Given the description of an element on the screen output the (x, y) to click on. 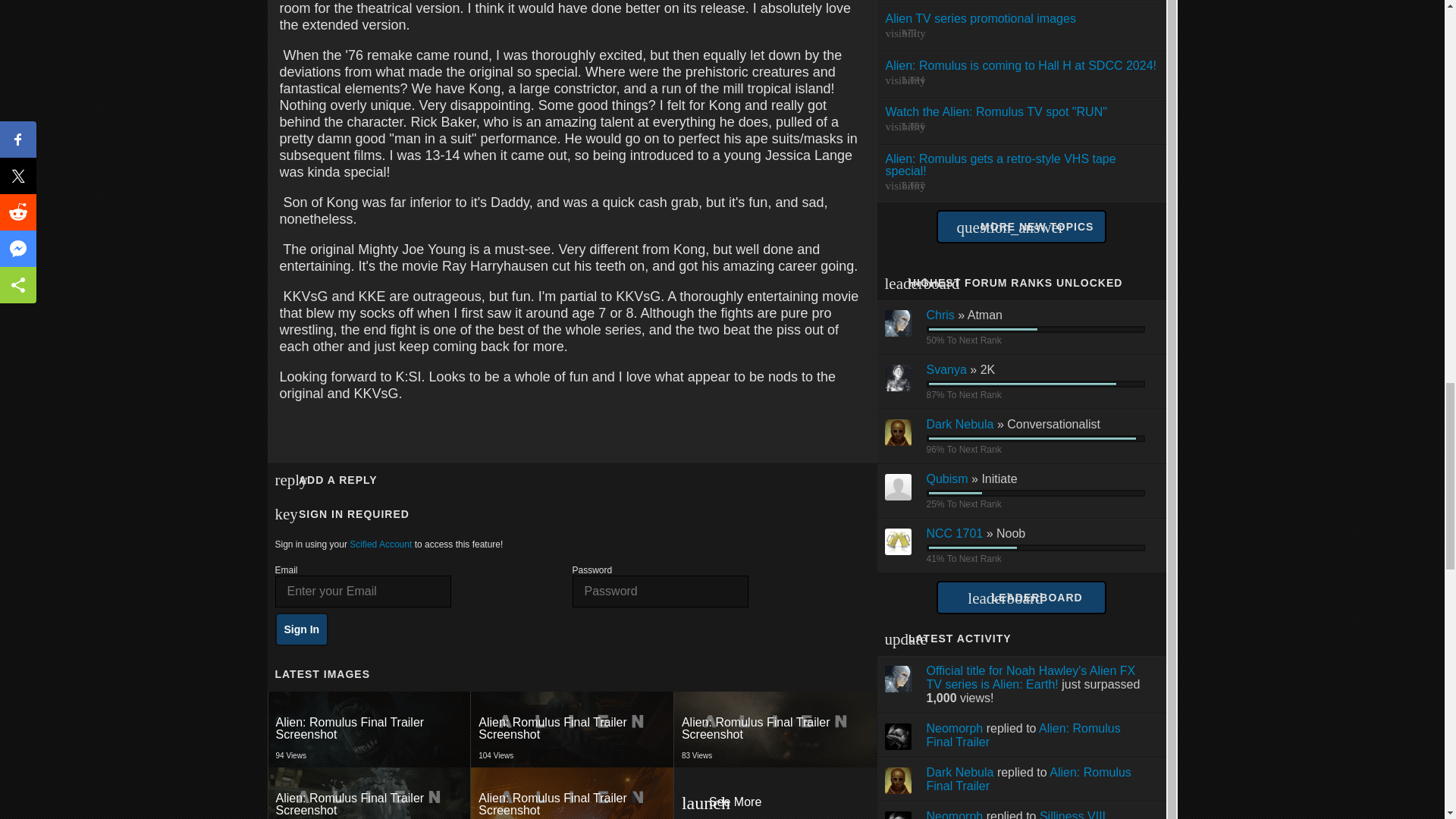
Alien: Romulus Final Trailer Screenshot (368, 729)
Alien: Romulus Final Trailer Screenshot (368, 729)
What is a Scified Account (571, 729)
Alien: Romulus Final Trailer Screenshot (774, 729)
Alien: Romulus Final Trailer Screenshot (571, 793)
Sign In (369, 728)
